Given the description of an element on the screen output the (x, y) to click on. 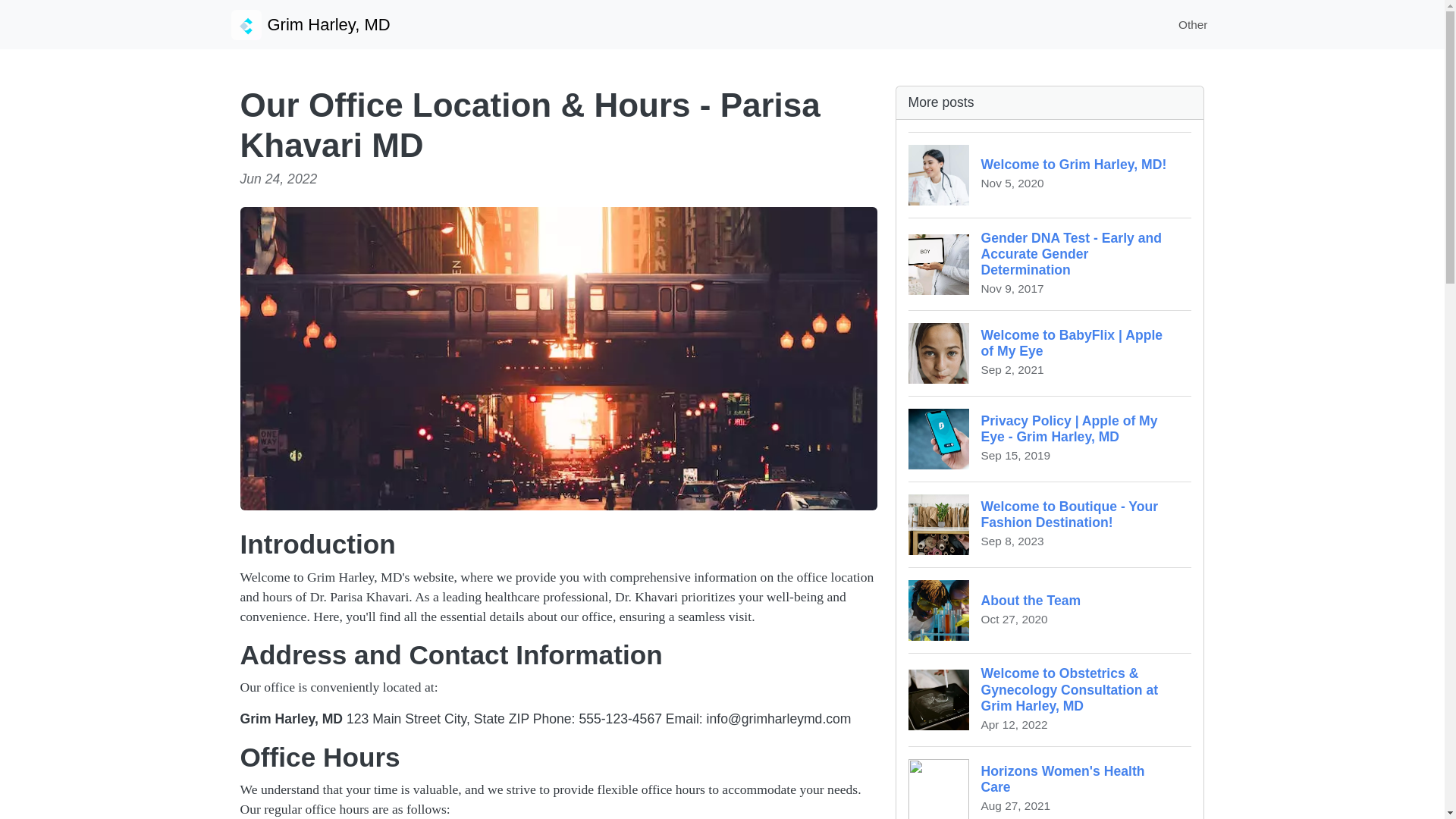
Grim Harley, MD (1050, 782)
Other (310, 24)
